Given the description of an element on the screen output the (x, y) to click on. 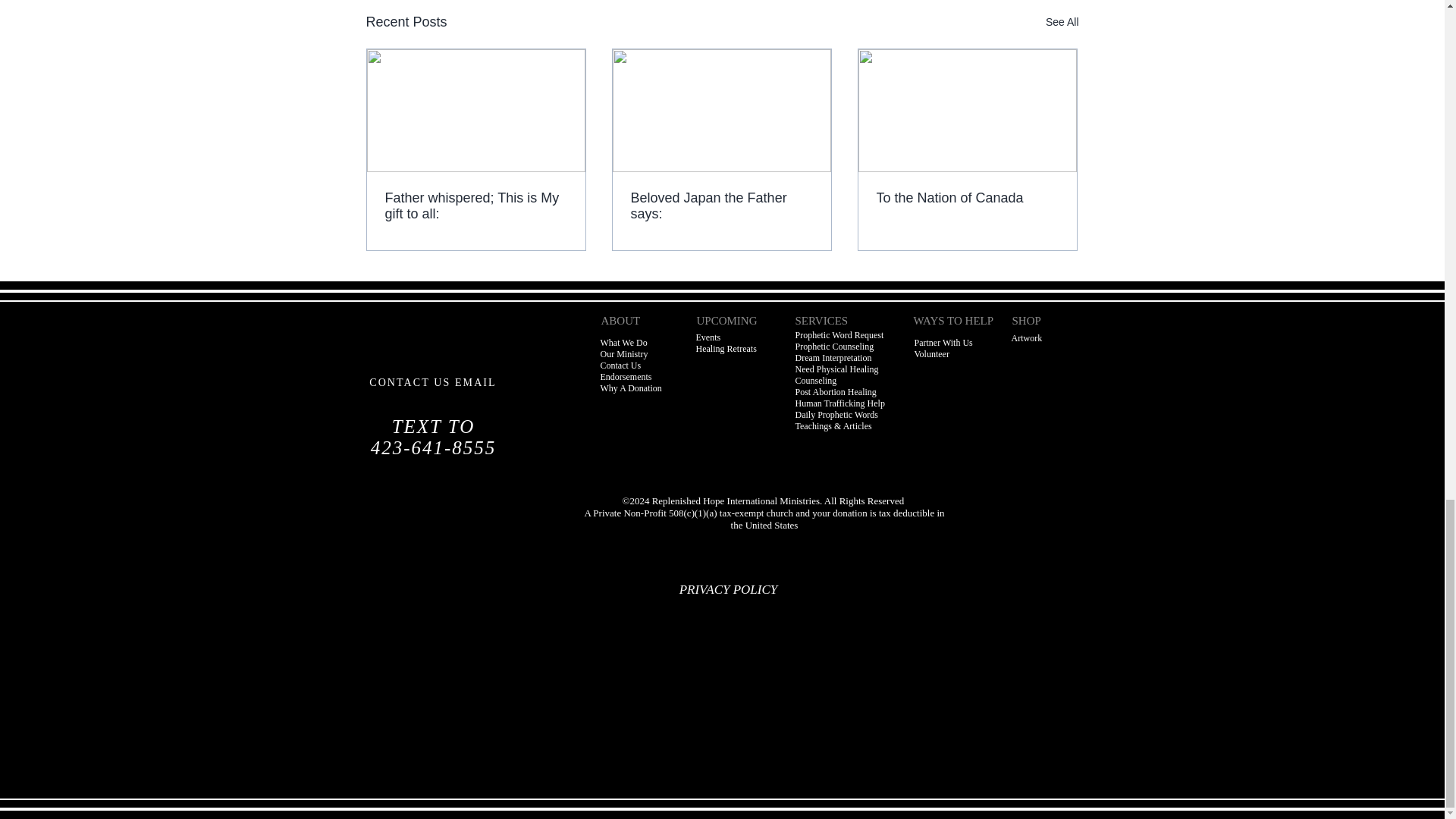
Father whispered; This is My gift to all: (476, 205)
Our Ministry (623, 353)
What We Do (623, 342)
Beloved Japan the Father says: (721, 205)
See All (1061, 22)
CONTACT US EMAIL (432, 382)
To the Nation of Canada (967, 198)
